Given the description of an element on the screen output the (x, y) to click on. 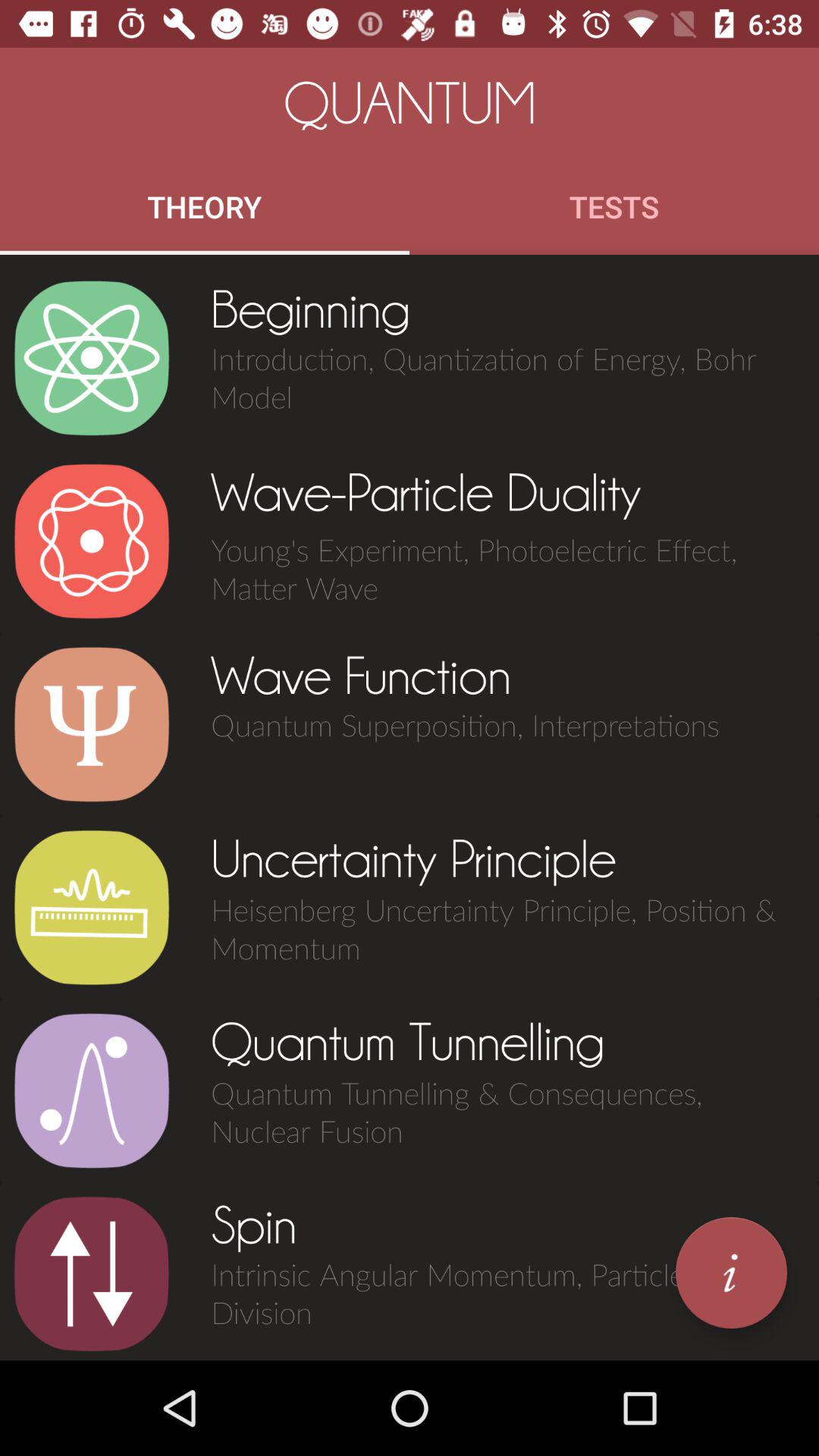
select option (91, 907)
